Given the description of an element on the screen output the (x, y) to click on. 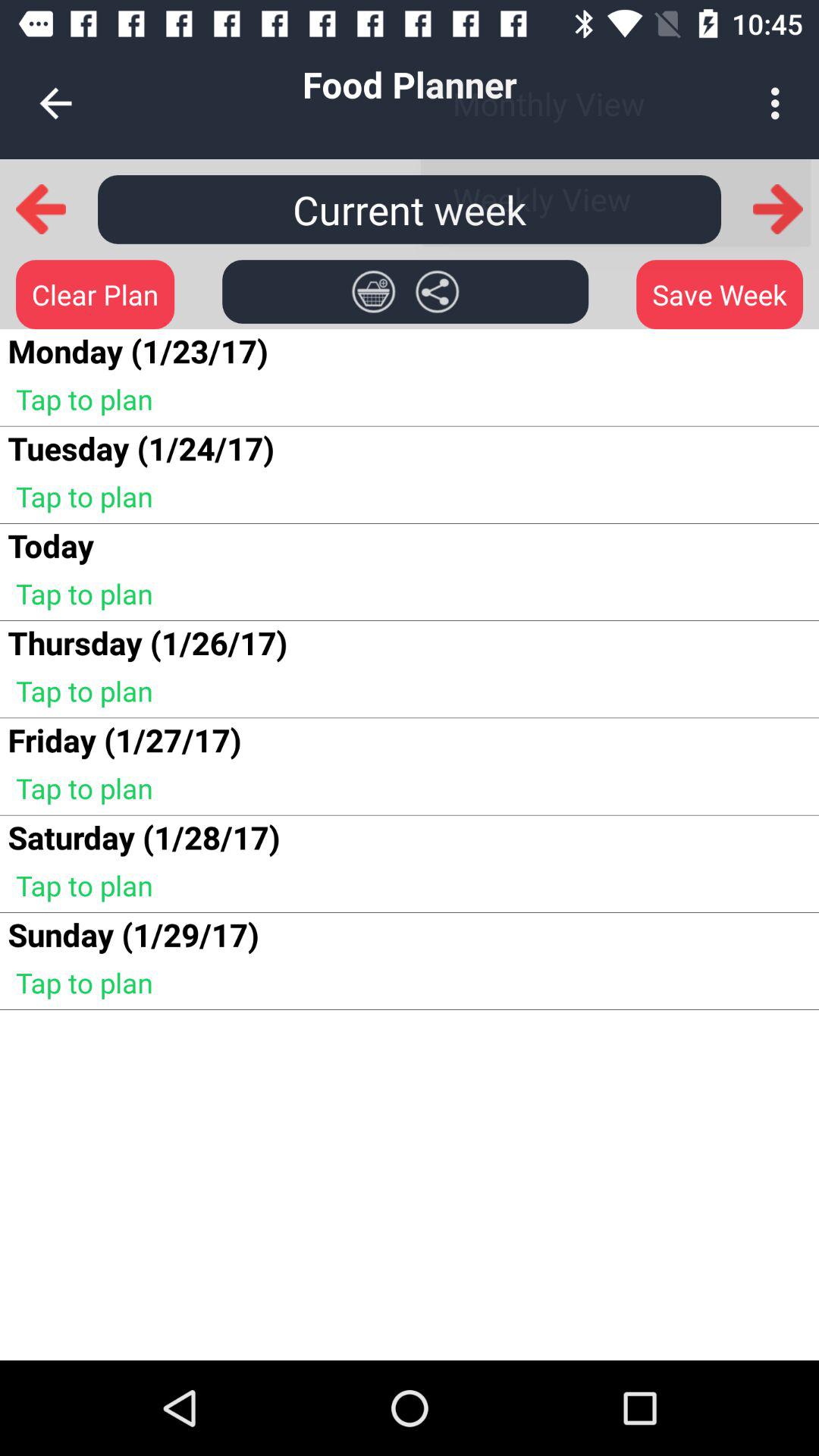
select the item to the right of the food planner item (779, 103)
